Given the description of an element on the screen output the (x, y) to click on. 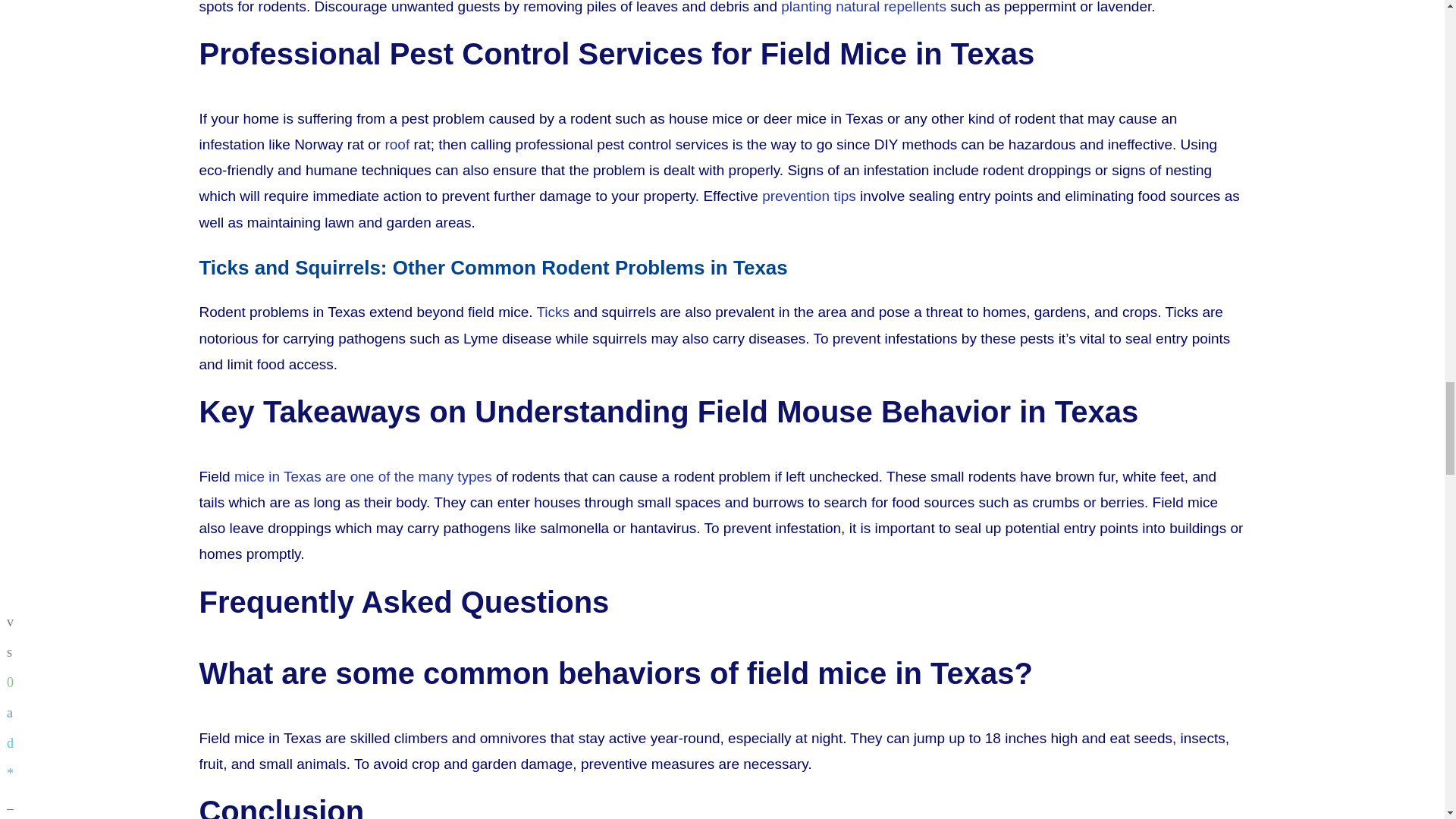
prevention tips (808, 195)
Ticks (552, 311)
Ticks (552, 311)
roof (396, 144)
planting natural repellents (863, 7)
mice in Texas are one of the many types (363, 476)
